Given the description of an element on the screen output the (x, y) to click on. 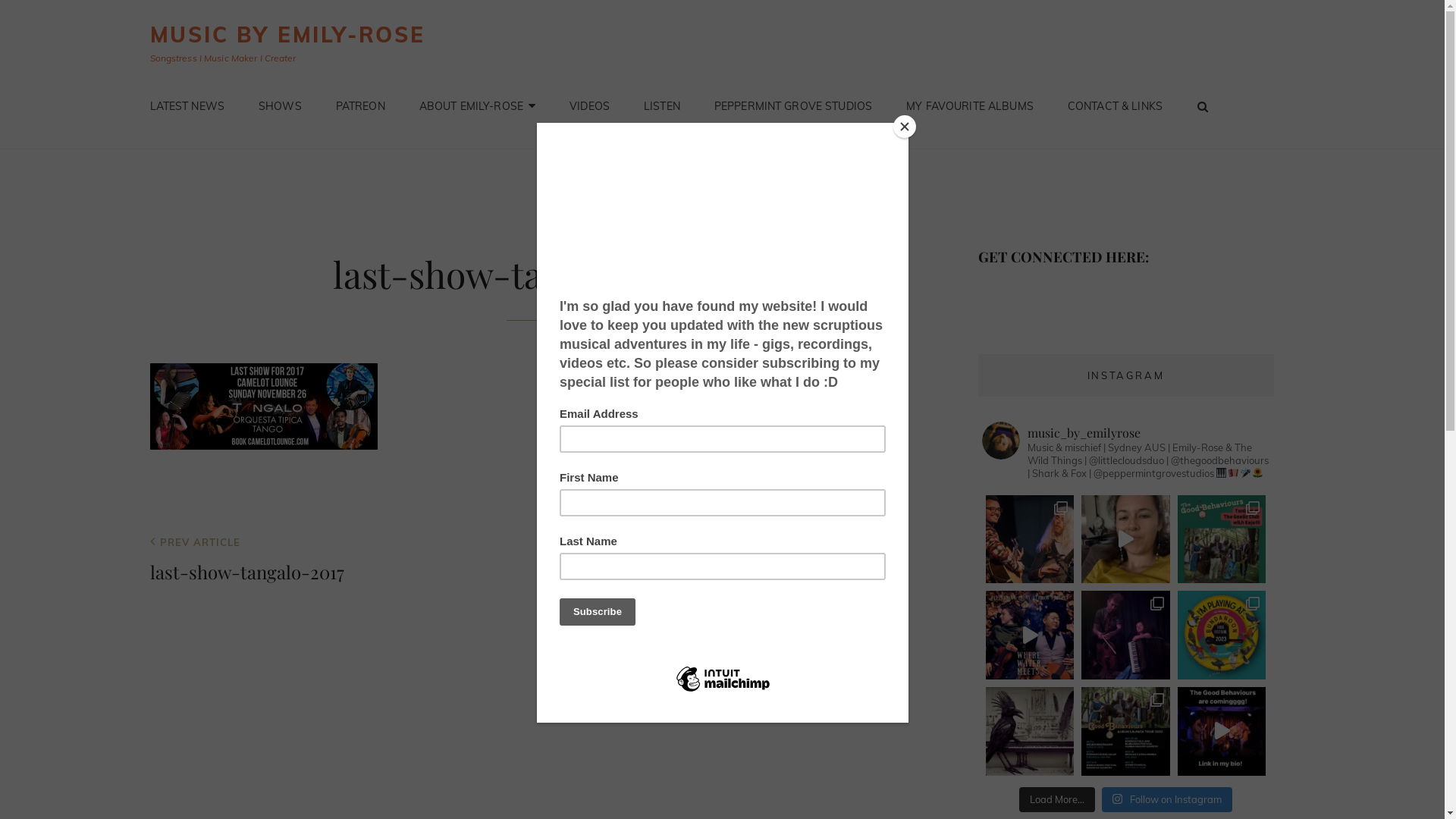
Follow on Instagram Element type: text (1166, 799)
VIDEOS Element type: text (589, 106)
Home Element type: text (599, 166)
PEPPERMINT GROVE STUDIOS Element type: text (793, 106)
ABOUT EMILY-ROSE Element type: text (477, 106)
Previous Post
PREV ARTICLE
last-show-tangalo-2017 Element type: text (525, 560)
SHOWS Element type: text (279, 106)
SEARCH Element type: text (1203, 105)
MY FAVOURITE ALBUMS Element type: text (969, 106)
LATEST NEWS Element type: text (187, 106)
MUSIC BY EMILY-ROSE Element type: text (287, 34)
LISTEN Element type: text (661, 106)
last-show-tangalo-2017 Element type: text (683, 166)
PATREON Element type: text (360, 106)
CONTACT & LINKS Element type: text (1114, 106)
Load More... Element type: text (1057, 799)
